Given the description of an element on the screen output the (x, y) to click on. 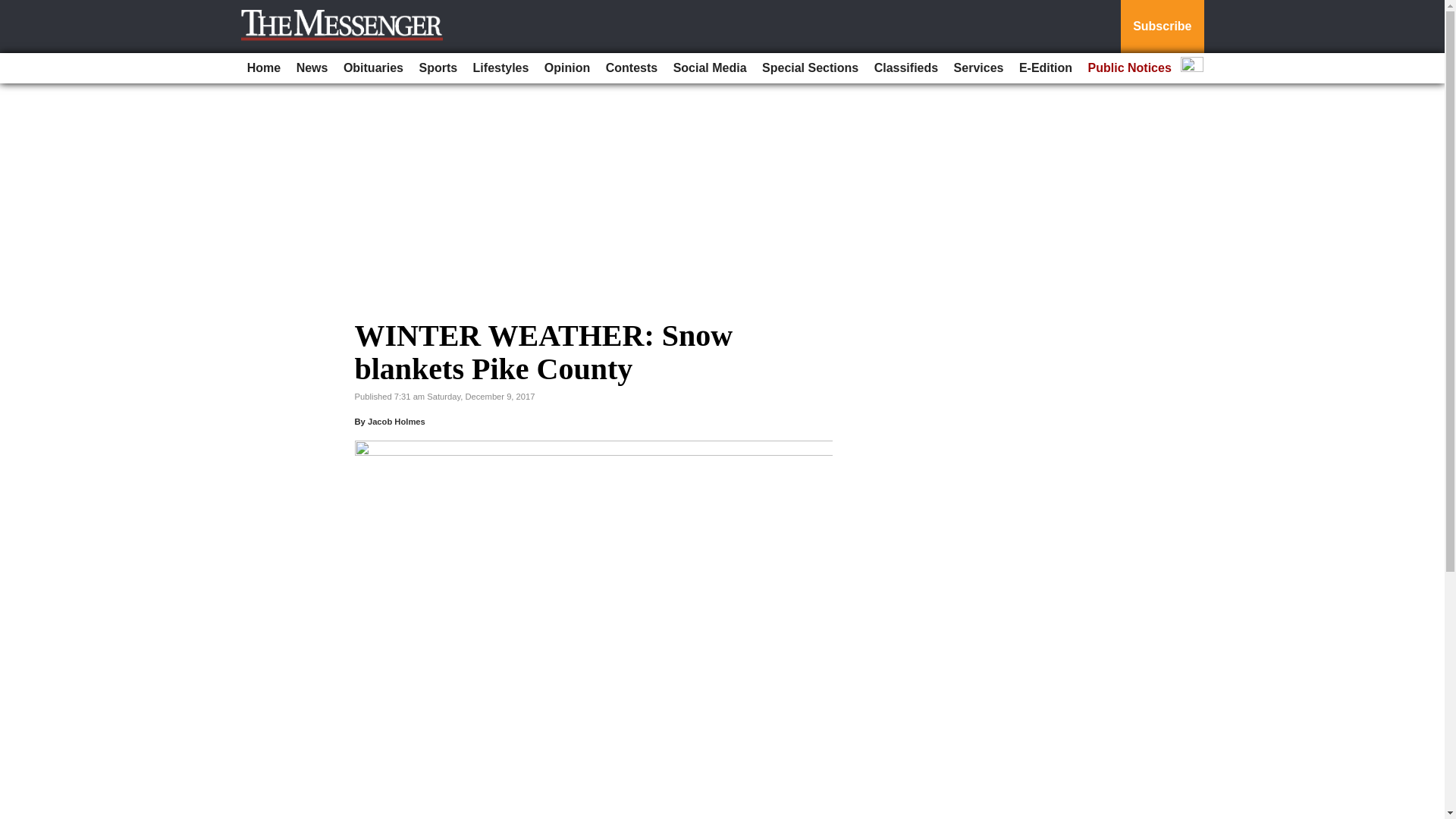
Services (978, 68)
Lifestyles (501, 68)
Contests (631, 68)
Classifieds (905, 68)
Subscribe (1162, 26)
Obituaries (373, 68)
Social Media (709, 68)
Opinion (566, 68)
Sports (437, 68)
Special Sections (809, 68)
